Given the description of an element on the screen output the (x, y) to click on. 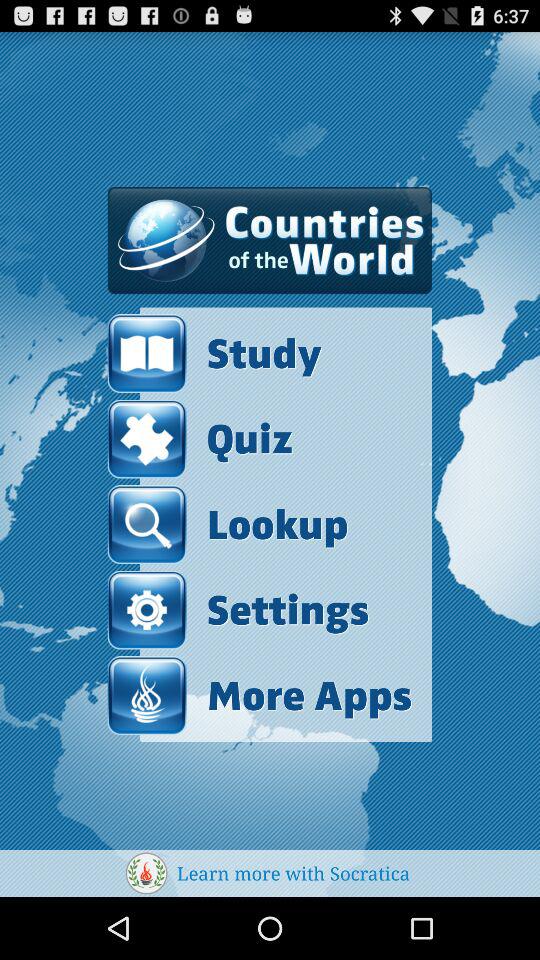
click item at the top (269, 240)
